Given the description of an element on the screen output the (x, y) to click on. 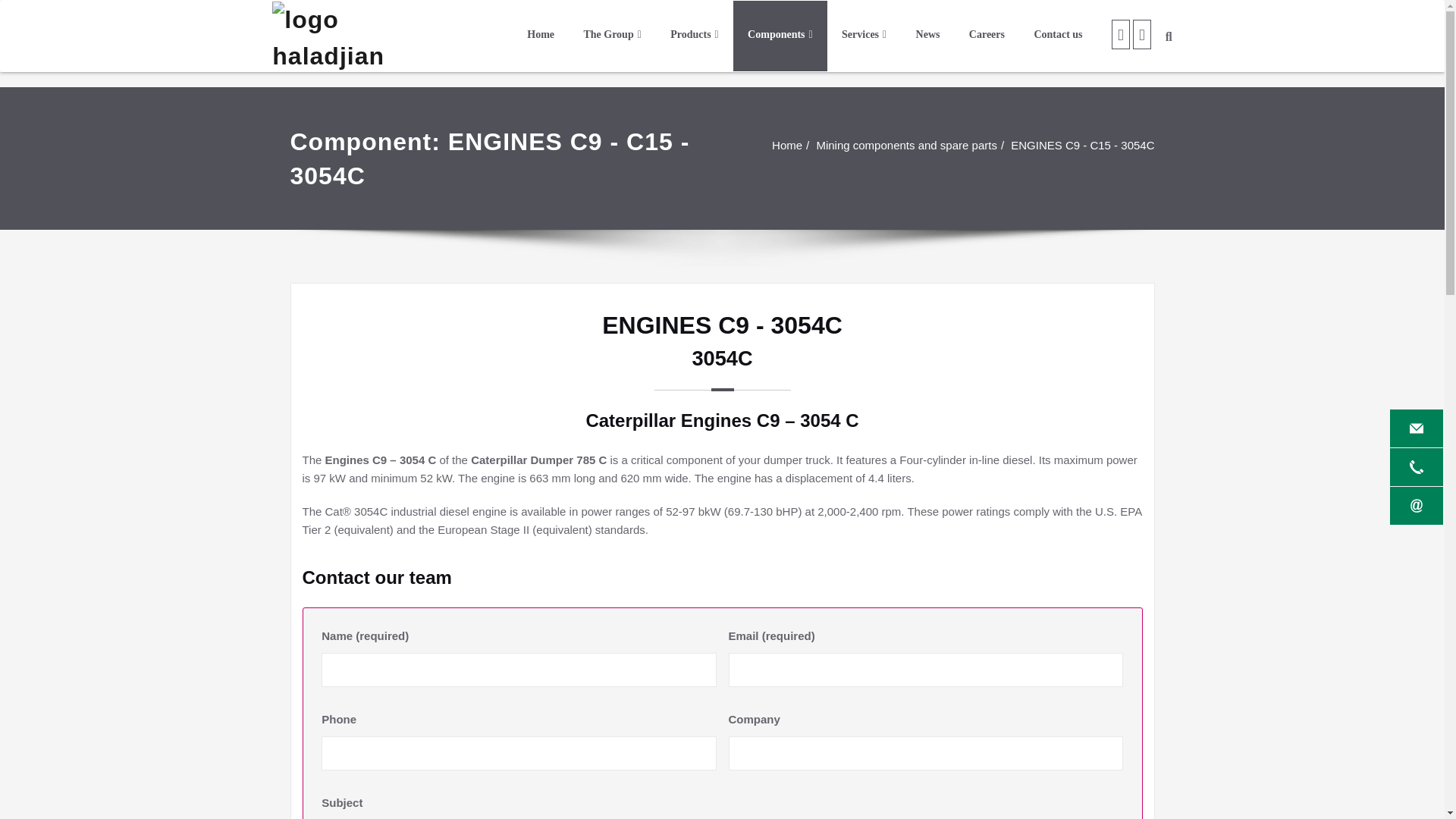
ENGINES C9 - C15 - 3054C (1082, 144)
Contact us (1058, 35)
Services (864, 35)
Careers (987, 35)
Home (786, 144)
Mining components and spare parts (905, 144)
The Group (612, 35)
Components (780, 35)
Products (694, 35)
